Given the description of an element on the screen output the (x, y) to click on. 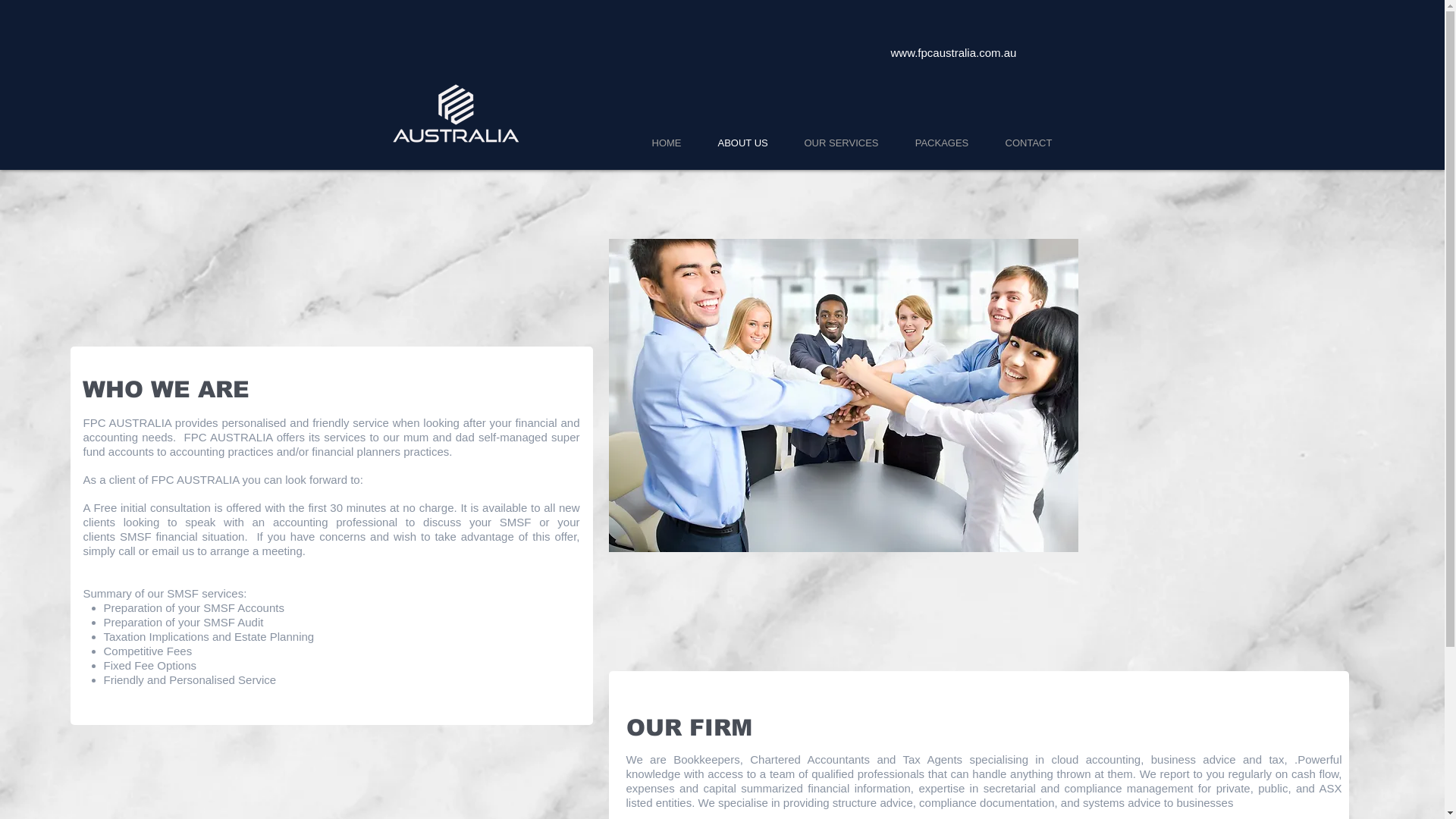
ABOUT US Element type: text (742, 143)
PACKAGES Element type: text (941, 143)
www.fpcaustralia.com.au Element type: text (953, 52)
OUR SERVICES Element type: text (840, 143)
HOME Element type: text (666, 143)
CONTACT Element type: text (1028, 143)
